Given the description of an element on the screen output the (x, y) to click on. 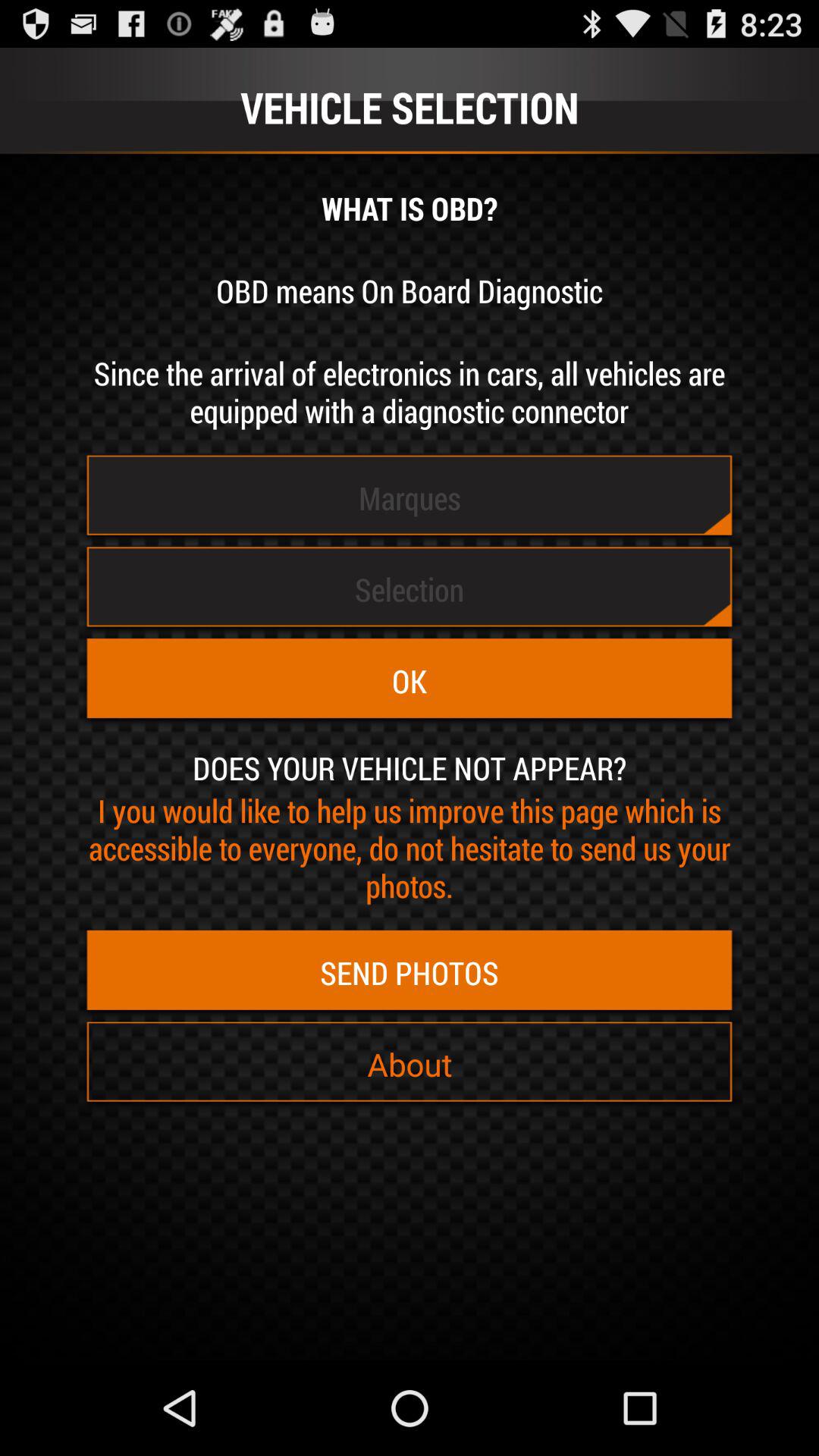
jump to the marques (409, 497)
